Given the description of an element on the screen output the (x, y) to click on. 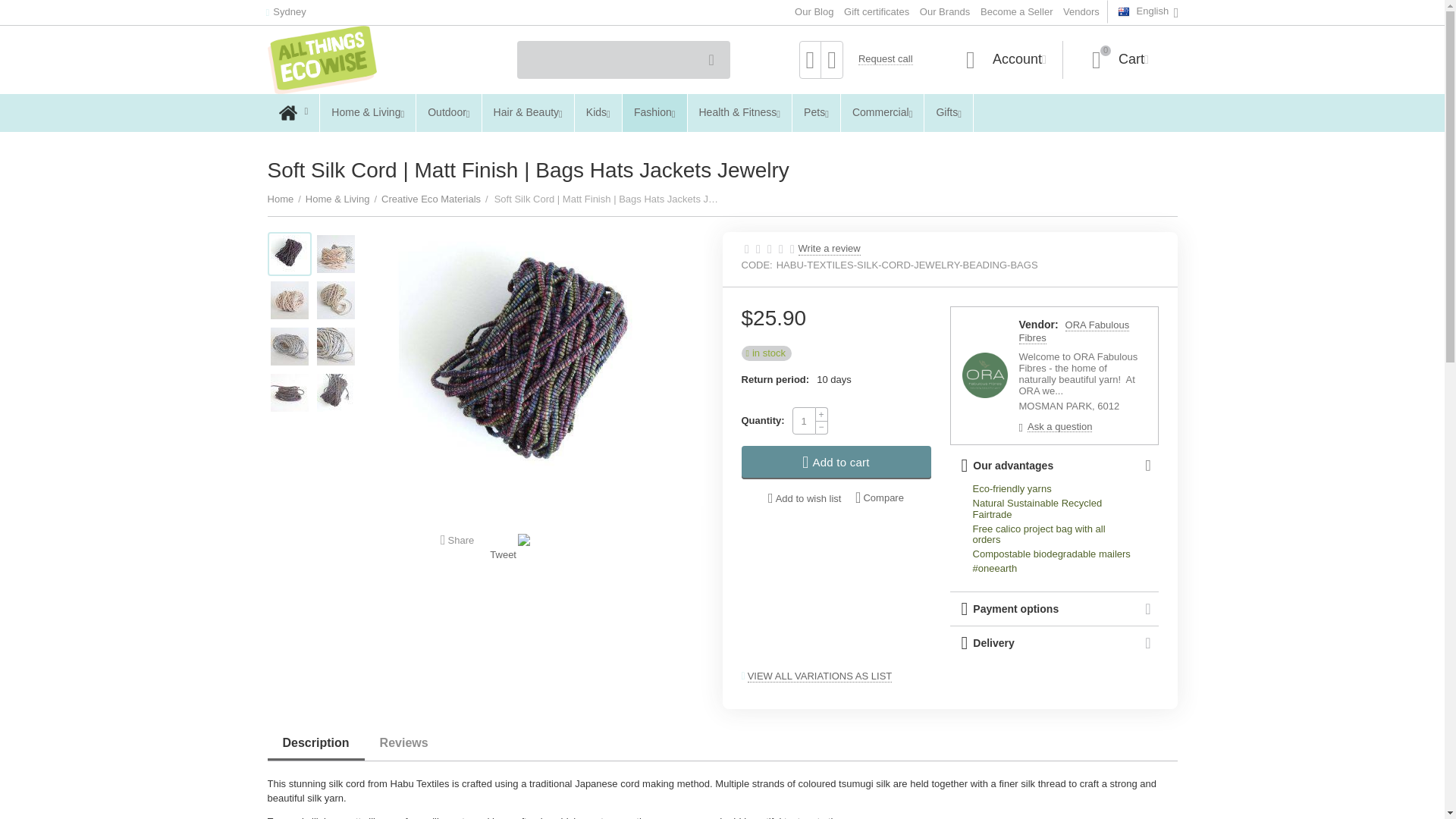
Search (710, 60)
Become a Seller (1015, 11)
Account (1006, 59)
Sydney (285, 12)
Vendors (1120, 59)
English (1080, 11)
Our Blog (1147, 11)
Gift certificates (813, 11)
Search products (876, 11)
Our Brands (623, 59)
Request call (945, 11)
